Given the description of an element on the screen output the (x, y) to click on. 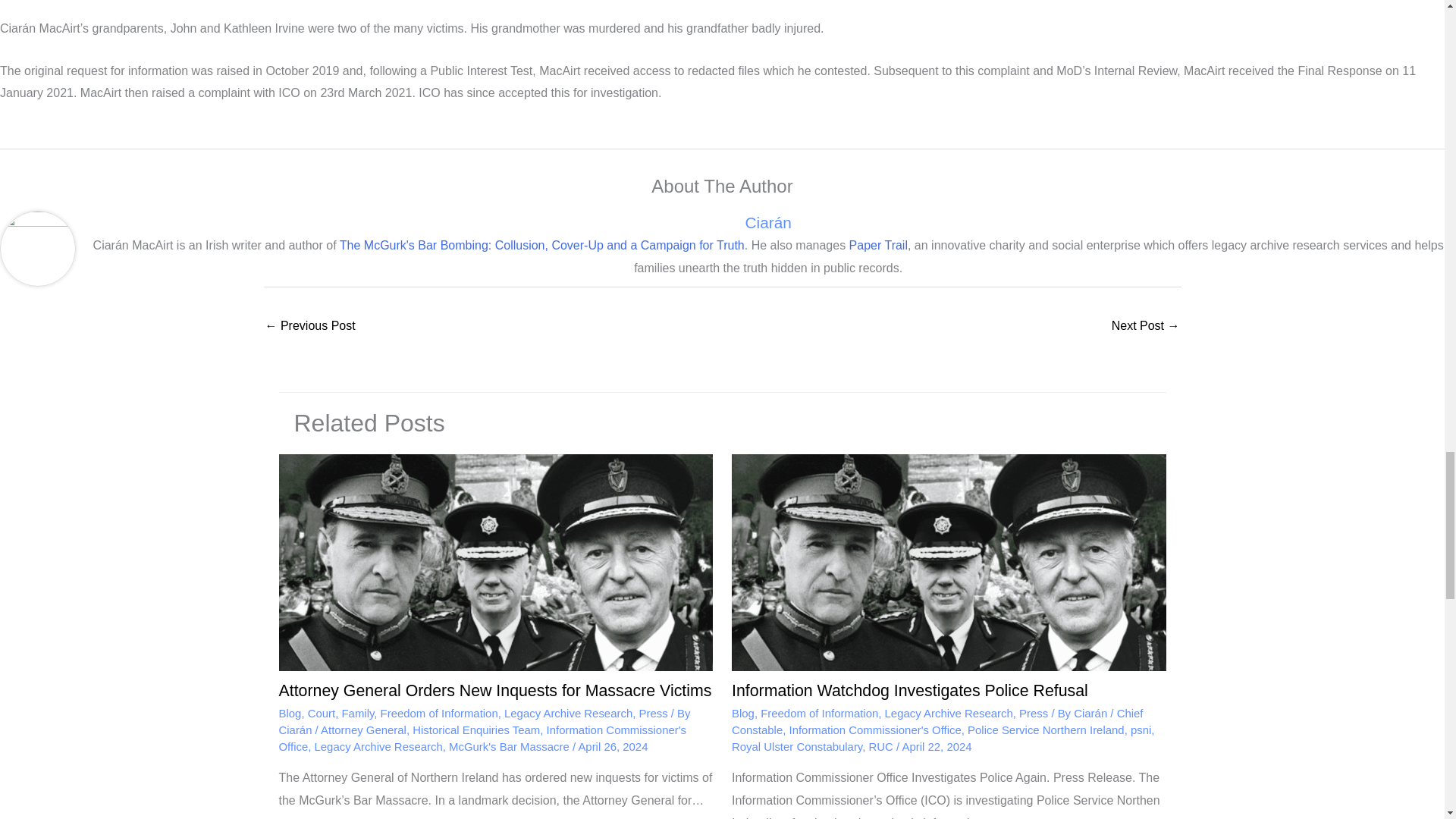
Never the Same (309, 326)
Attorney General Orders New Inquests for Massacre Victims 4 (496, 562)
Information Watchdog Investigates Police Refusal 7 (949, 562)
